Given the description of an element on the screen output the (x, y) to click on. 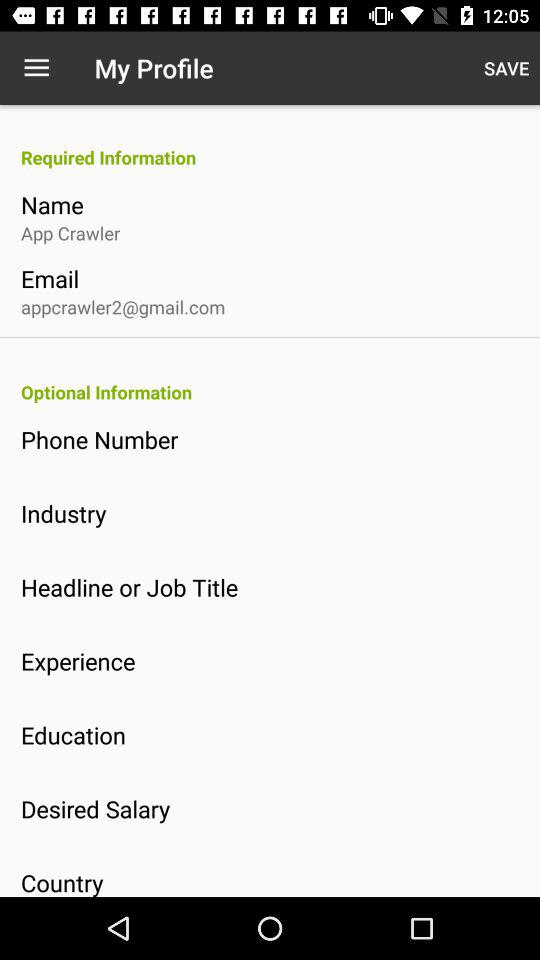
turn on item below the appcrawler2@gmail.com icon (280, 391)
